Given the description of an element on the screen output the (x, y) to click on. 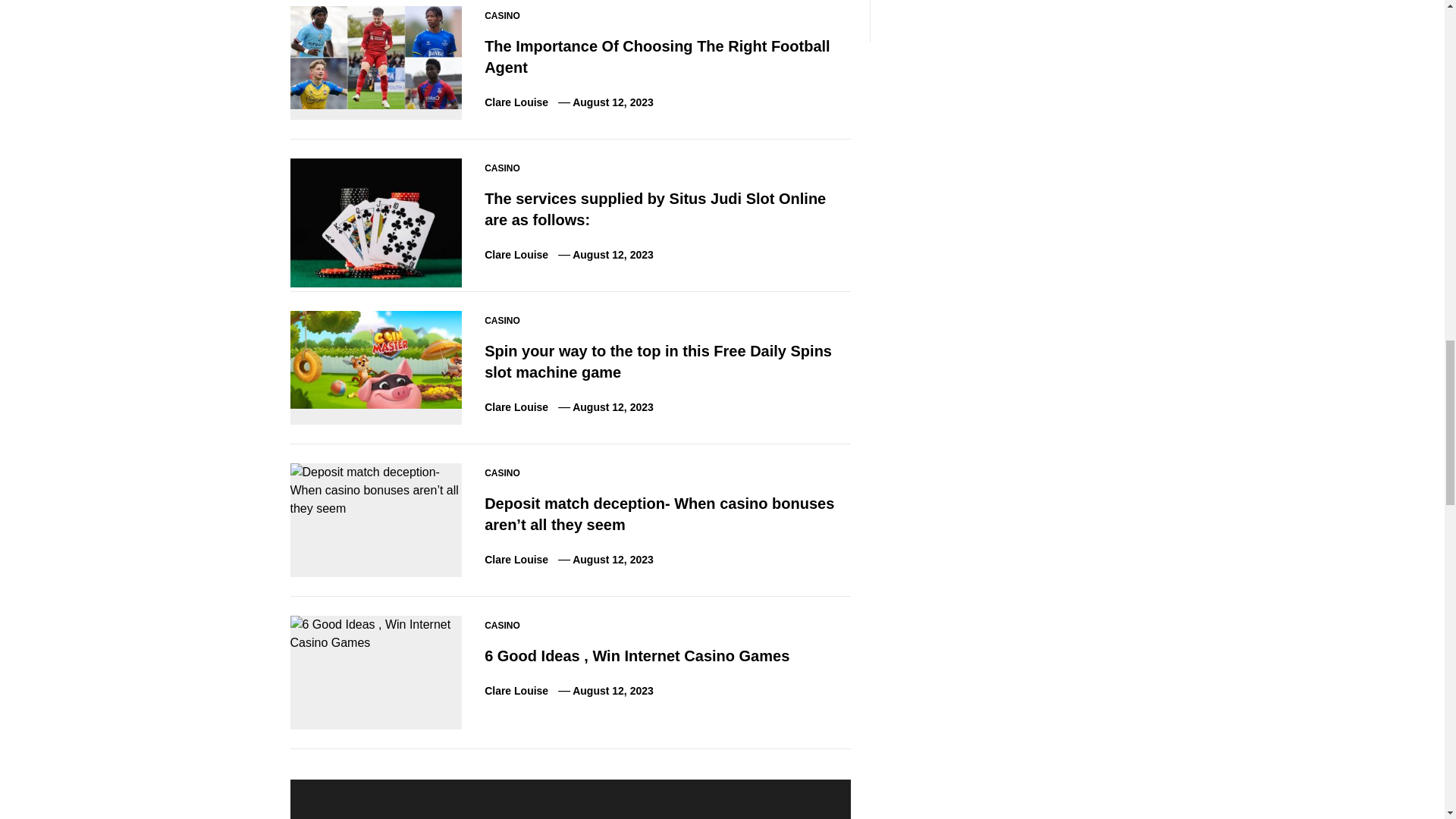
CASINO (501, 320)
CASINO (501, 15)
The Importance Of Choosing The Right Football Agent (656, 56)
CASINO (501, 168)
Clare Louise (516, 407)
Clare Louise (516, 254)
Clare Louise (516, 102)
August 12, 2023 (612, 102)
